Given the description of an element on the screen output the (x, y) to click on. 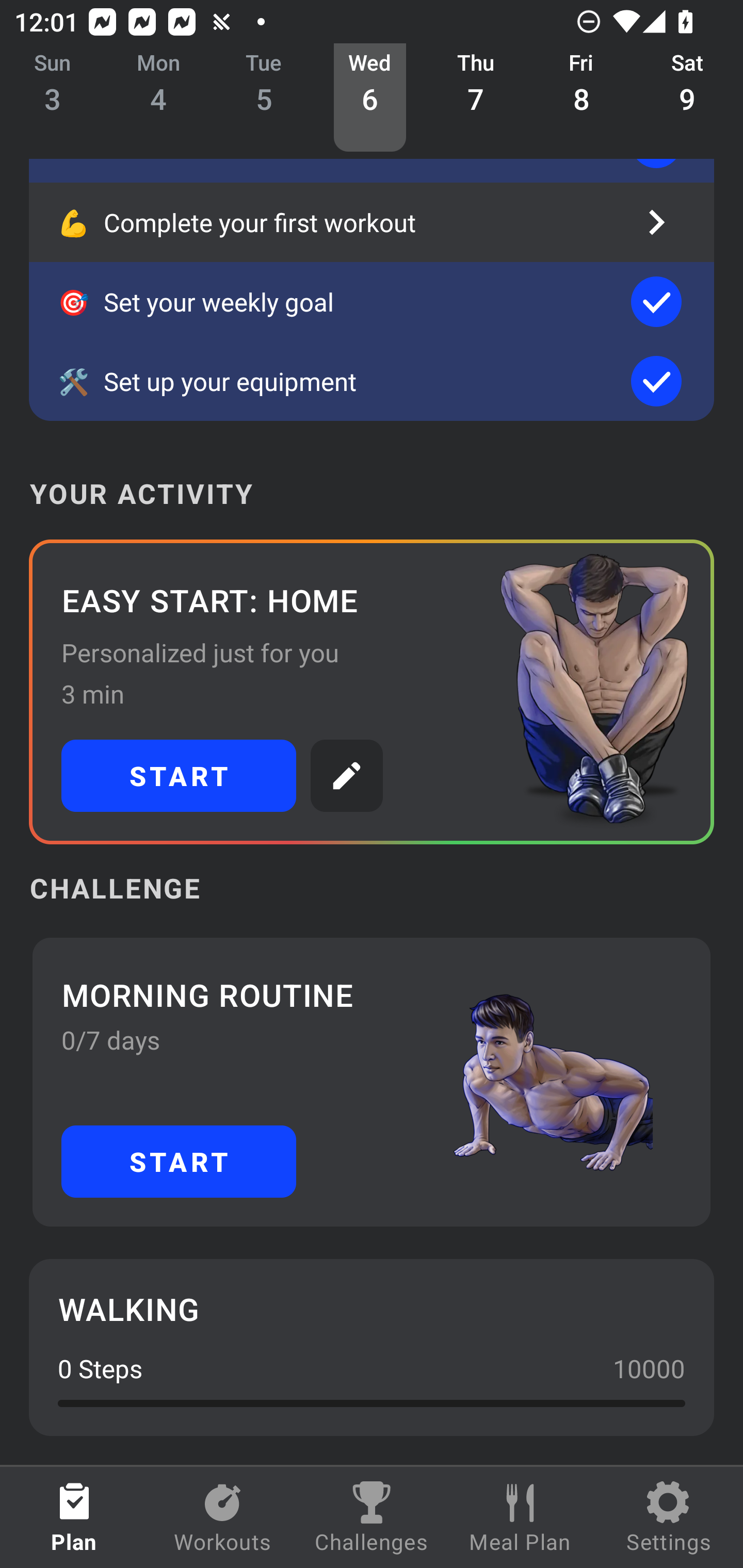
Sun 3 (52, 97)
Mon 4 (158, 97)
Tue 5 (264, 97)
Wed 6 (369, 97)
Thu 7 (475, 97)
Fri 8 (581, 97)
Sat 9 (687, 97)
💪 Complete your first workout (371, 221)
START (178, 776)
MORNING ROUTINE 0/7 days START (371, 1082)
START (178, 1161)
WALKING 0 Steps 10000 0.0 (371, 1347)
 Workouts  (222, 1517)
 Challenges  (371, 1517)
 Meal Plan  (519, 1517)
 Settings  (668, 1517)
